Given the description of an element on the screen output the (x, y) to click on. 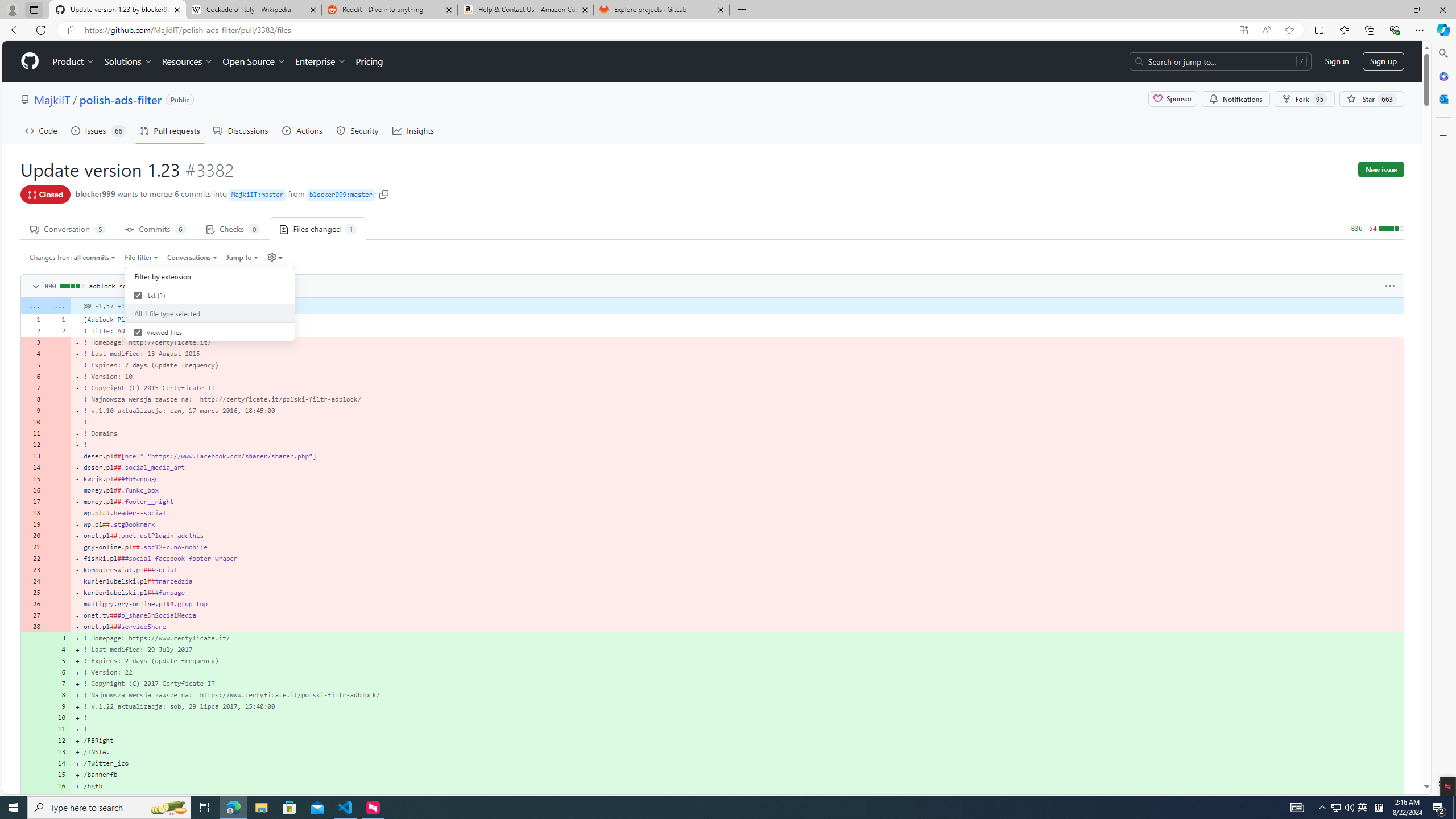
! Title: Adblock polskie reguly social (737, 330)
26 (33, 603)
- wp.pl##.header--social (737, 512)
- ! Domains (737, 432)
+ ! Copyright (C) 2017 Certyficate IT (737, 683)
 Conversation 5 (68, 228)
- ! Expires: 7 days (update frequency)  (737, 365)
Open Source (254, 60)
14 (58, 763)
App available. Install GitHub (1243, 29)
23 (33, 569)
Copy (270, 284)
- ! Last modified: 13 August 2015 (737, 353)
